Given the description of an element on the screen output the (x, y) to click on. 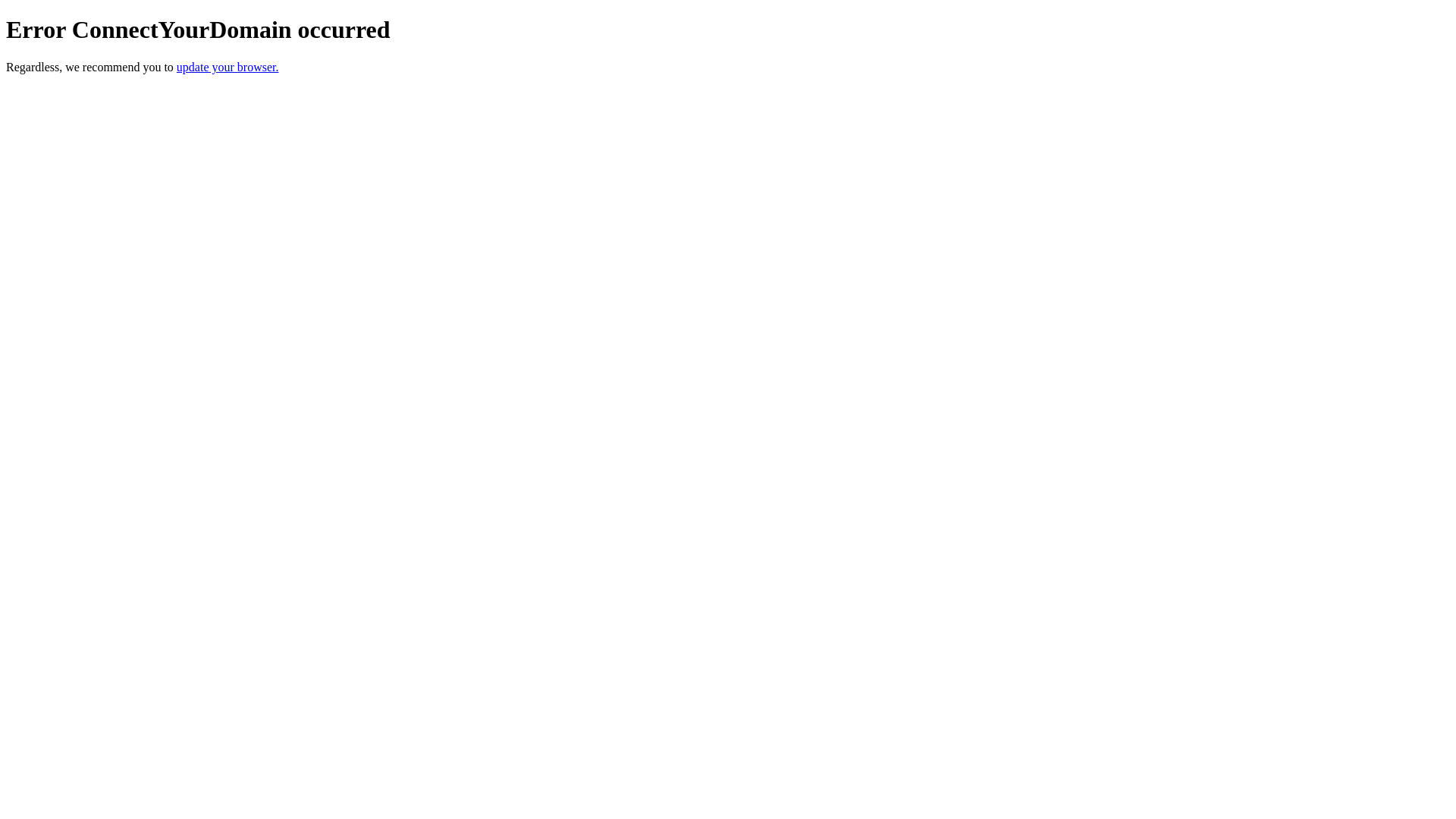
update your browser. Element type: text (227, 66)
